Given the description of an element on the screen output the (x, y) to click on. 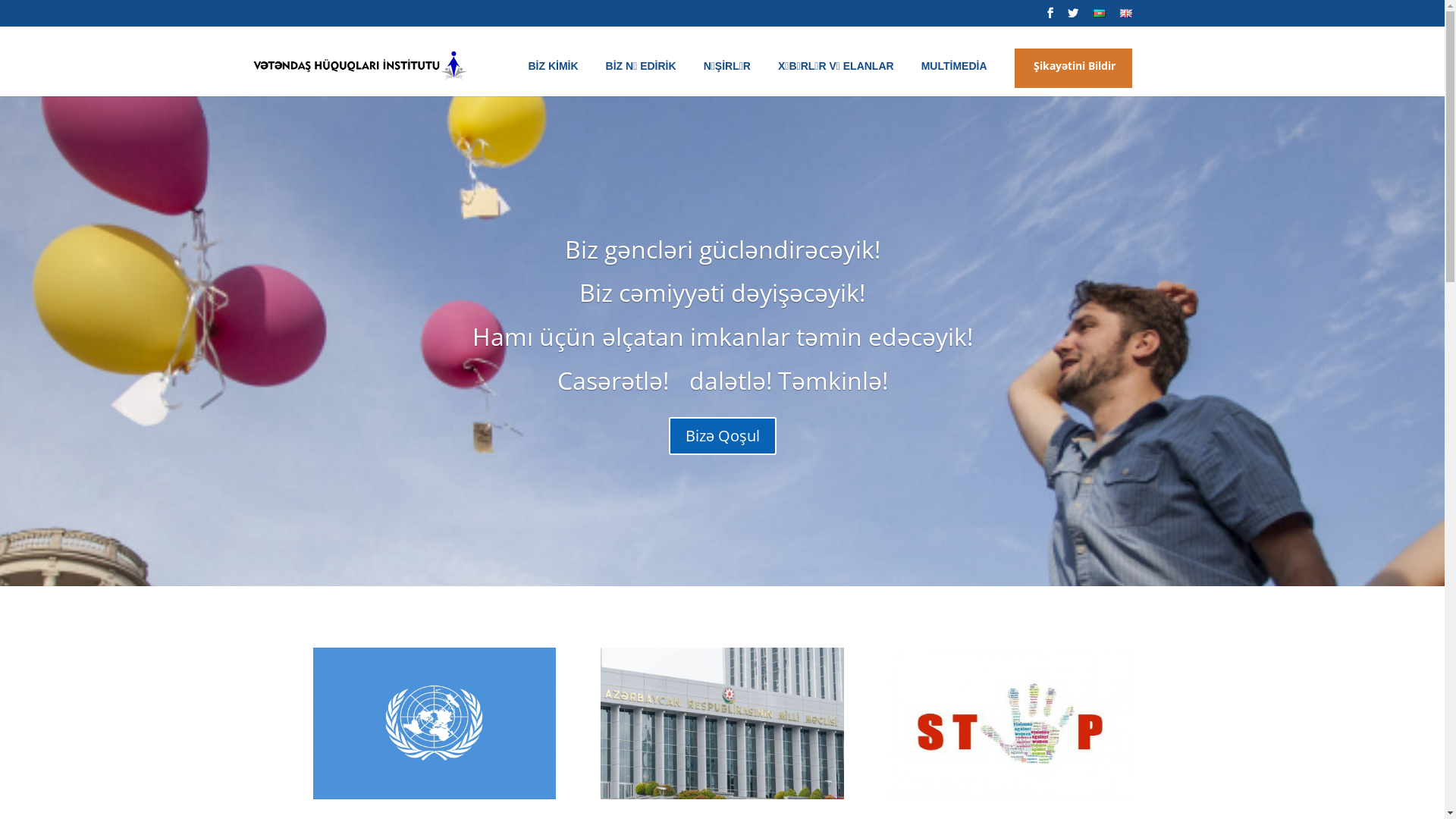
BIZ KIMIK Element type: text (556, 78)
MULTIMEDIA Element type: text (957, 78)
